Given the description of an element on the screen output the (x, y) to click on. 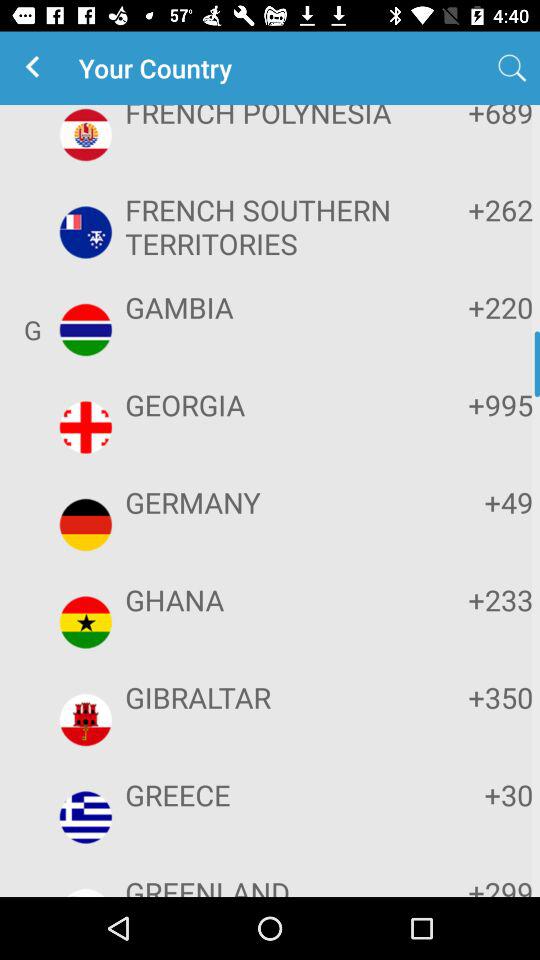
launch the app above greenland icon (267, 794)
